Given the description of an element on the screen output the (x, y) to click on. 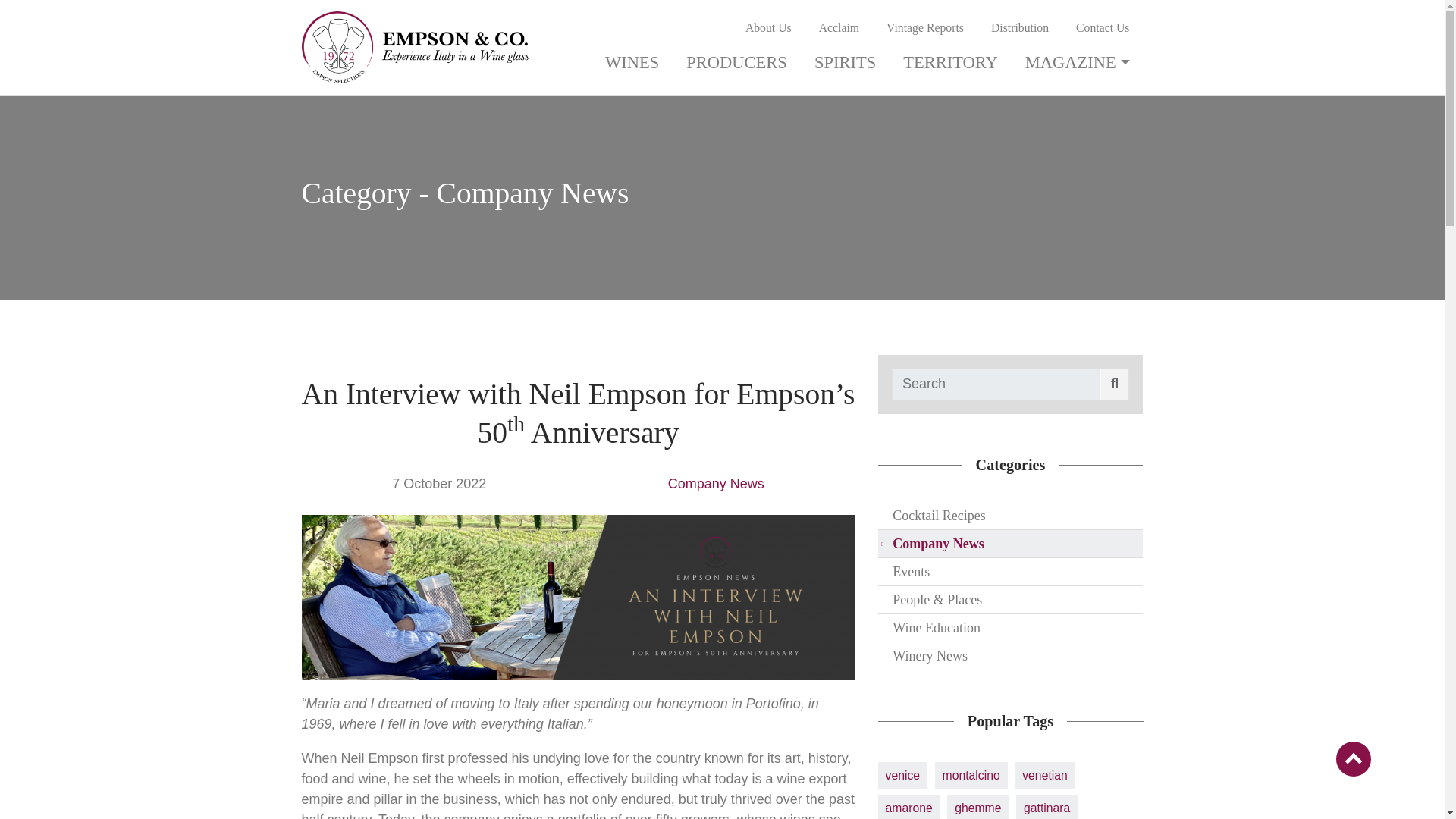
Acclaim (838, 28)
Spirits (844, 62)
Territory (950, 62)
WINES (631, 62)
Contact Us (1102, 28)
venice (902, 775)
TERRITORY (950, 62)
ghemme (978, 807)
Events (1010, 571)
SPIRITS (844, 62)
